Given the description of an element on the screen output the (x, y) to click on. 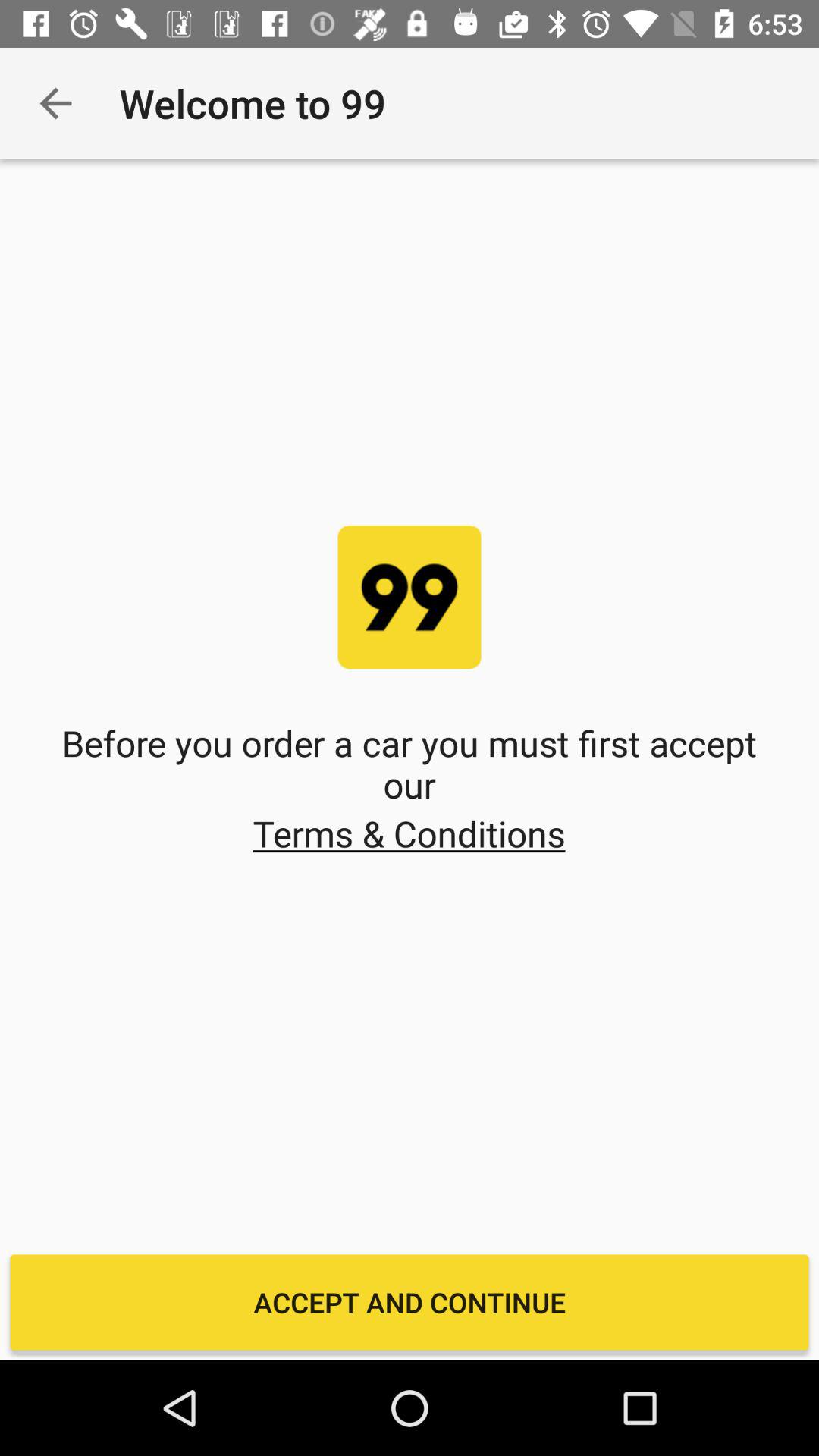
swipe to terms & conditions icon (409, 833)
